Given the description of an element on the screen output the (x, y) to click on. 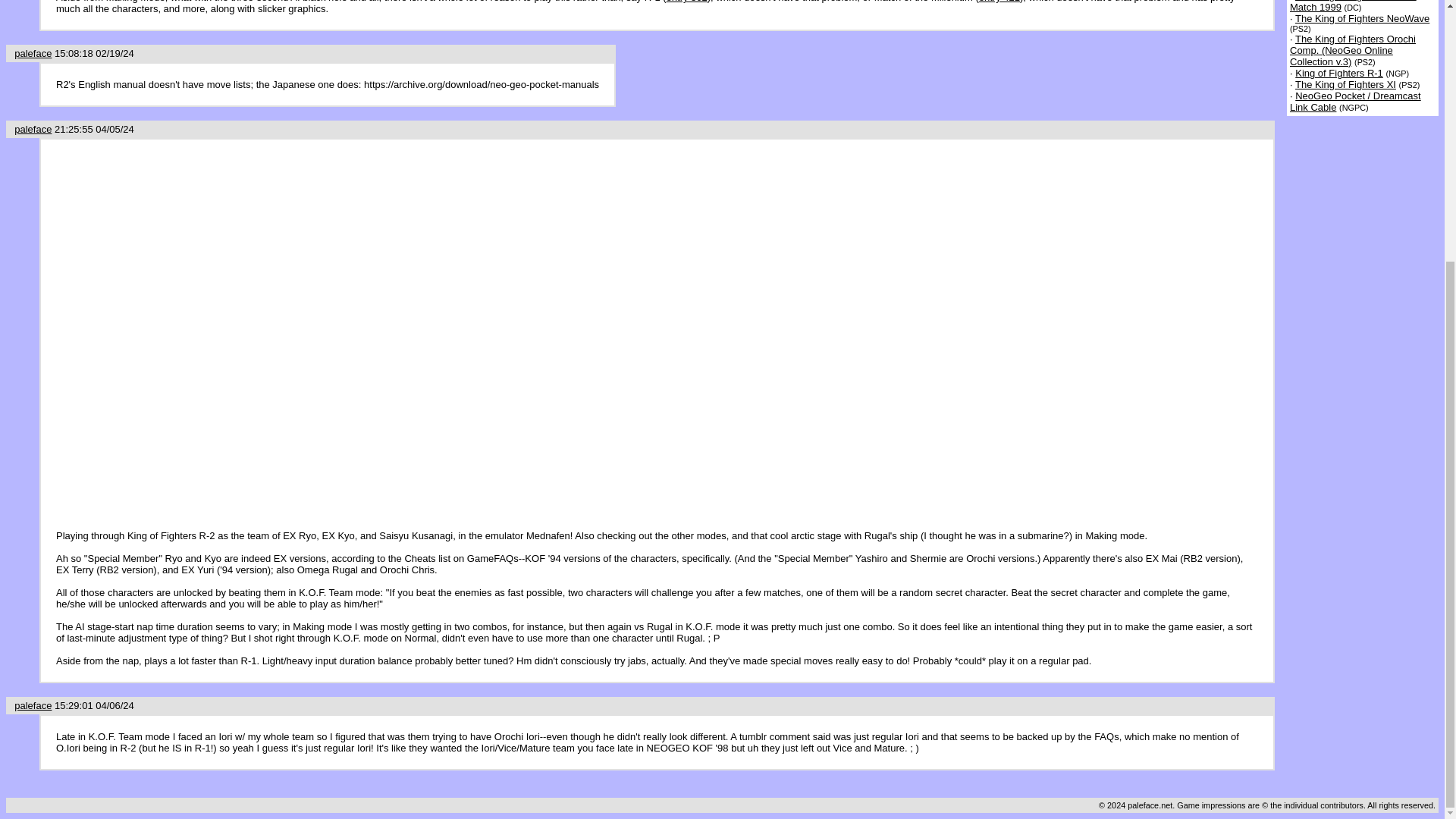
The King of Fighters Dream Match 1999 (1353, 6)
The King of Fighters XI (1345, 84)
paleface (32, 52)
paleface (32, 129)
King of Fighters R-1 (1339, 72)
entry 362 (686, 1)
paleface (32, 705)
The King of Fighters NeoWave (1362, 18)
entry 421 (999, 1)
